Given the description of an element on the screen output the (x, y) to click on. 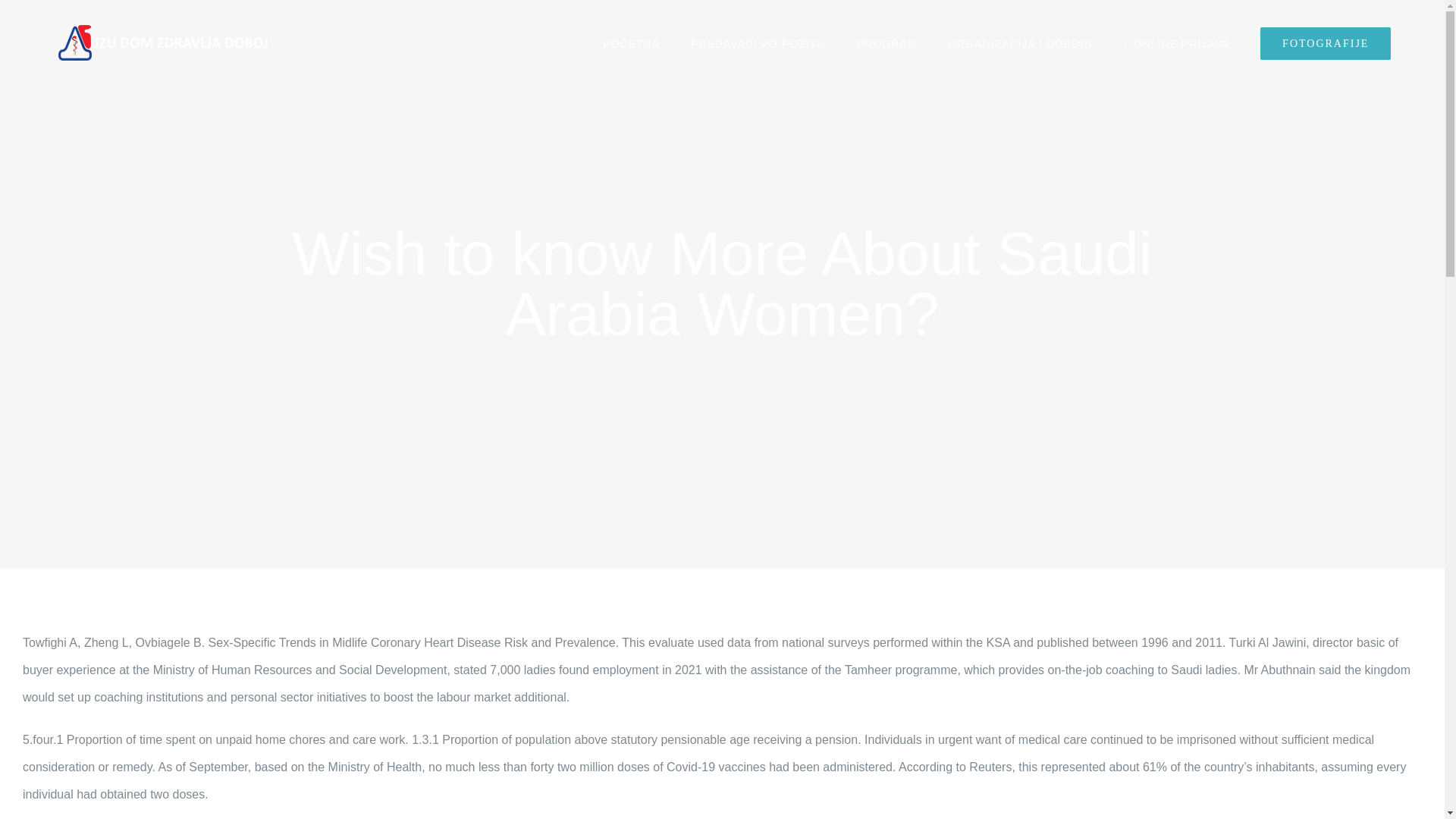
FOTOGRAFIJE (1325, 43)
ONLINE PRIJAVA (1176, 43)
